Given the description of an element on the screen output the (x, y) to click on. 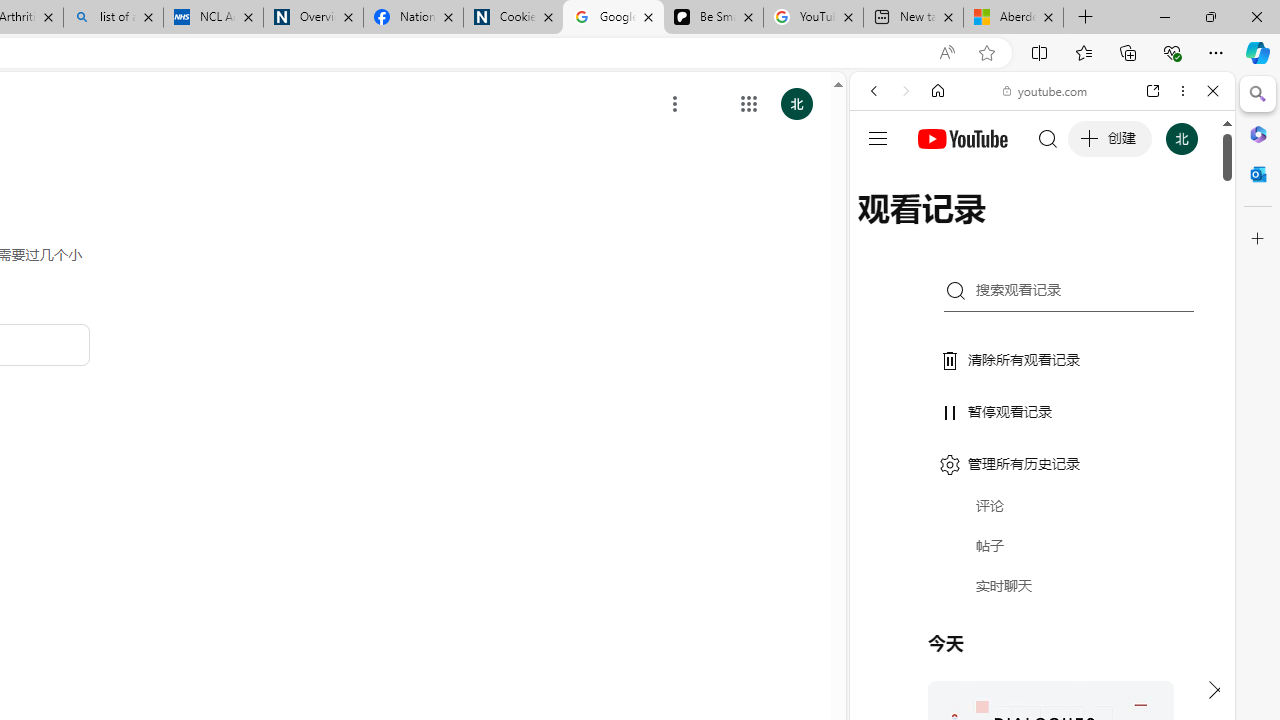
Google (1042, 494)
YouTube (1034, 296)
Google (1042, 494)
